Given the description of an element on the screen output the (x, y) to click on. 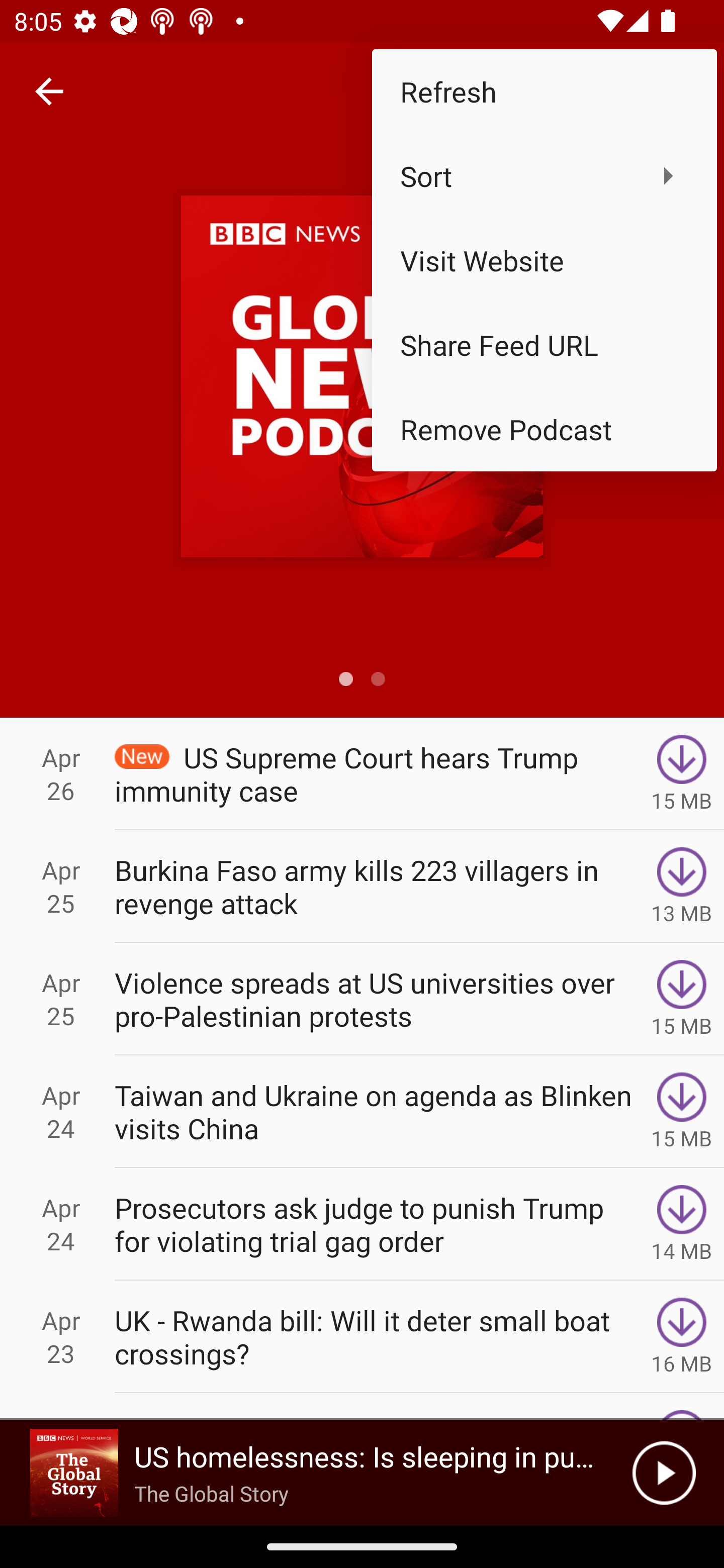
Refresh (544, 90)
Sort (544, 175)
Visit Website (544, 259)
Share Feed URL (544, 344)
Remove Podcast (544, 429)
